Given the description of an element on the screen output the (x, y) to click on. 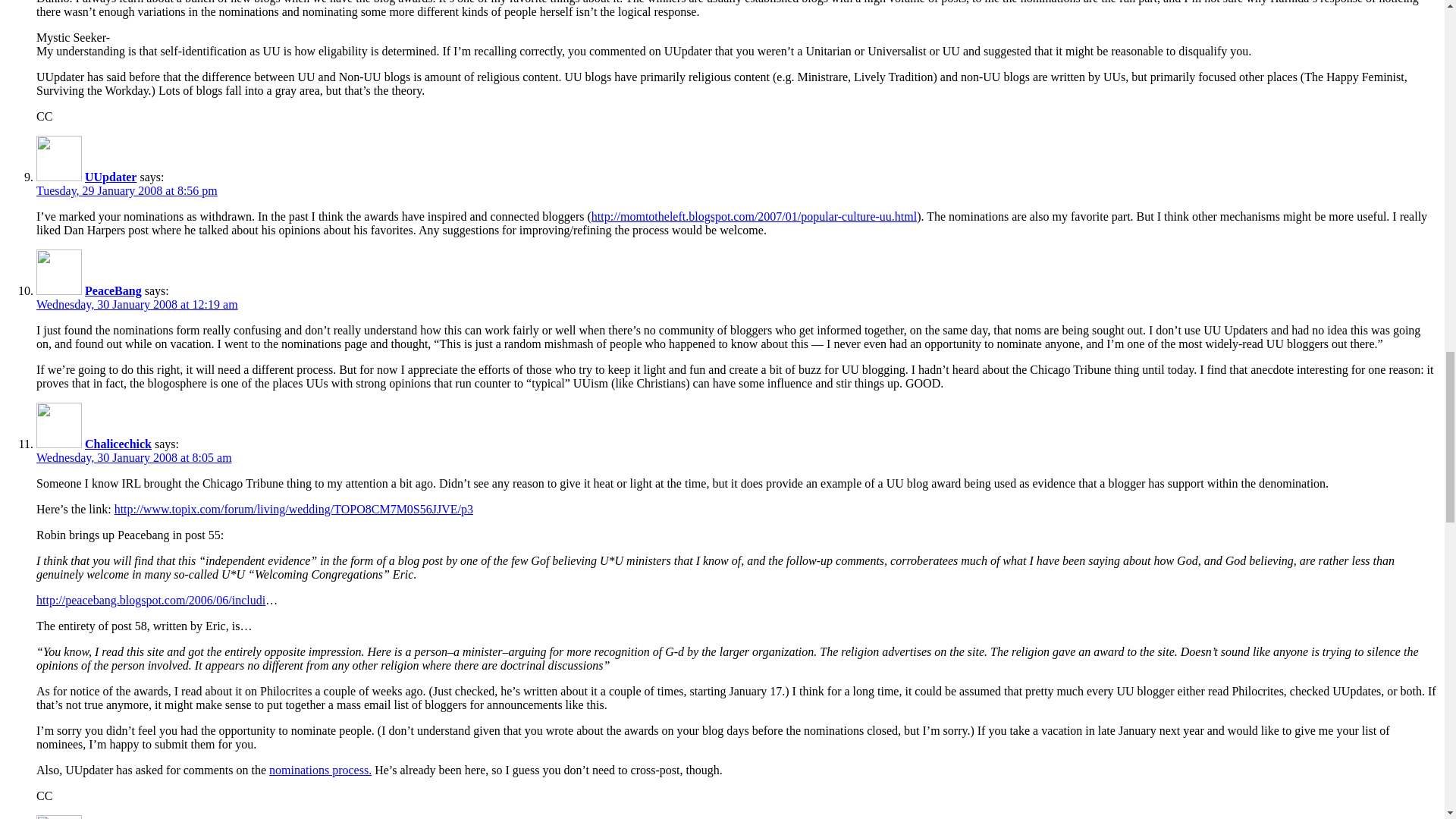
Wednesday, 30 January 2008 at 12:19 am (137, 304)
PeaceBang (112, 290)
Tuesday, 29 January 2008 at 8:56 pm (126, 190)
nominations process. (320, 769)
UUpdater (110, 176)
Wednesday, 30 January 2008 at 8:05 am (133, 457)
Chalicechick (117, 443)
